Given the description of an element on the screen output the (x, y) to click on. 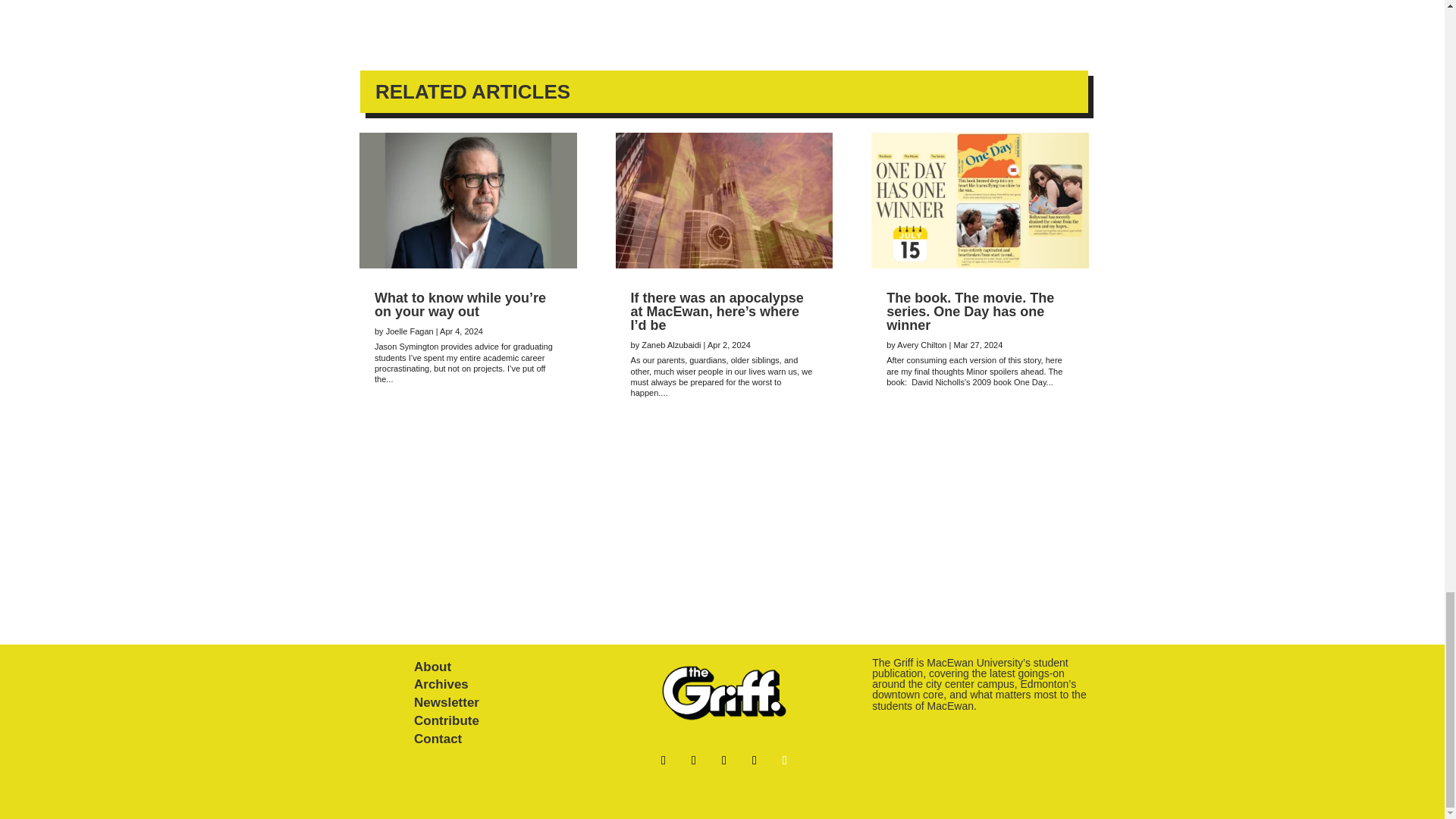
Posts by Zaneb Alzubaidi (671, 344)
Posts by Avery Chilton (921, 344)
Follow on Youtube (723, 760)
Follow on X (662, 760)
Follow on LinkedIn (754, 760)
the-griff-samu-macewan-student-news-logo (724, 693)
Follow on TikTok (693, 760)
Follow on Instagram (784, 760)
Posts by Joelle Fagan (409, 330)
